Given the description of an element on the screen output the (x, y) to click on. 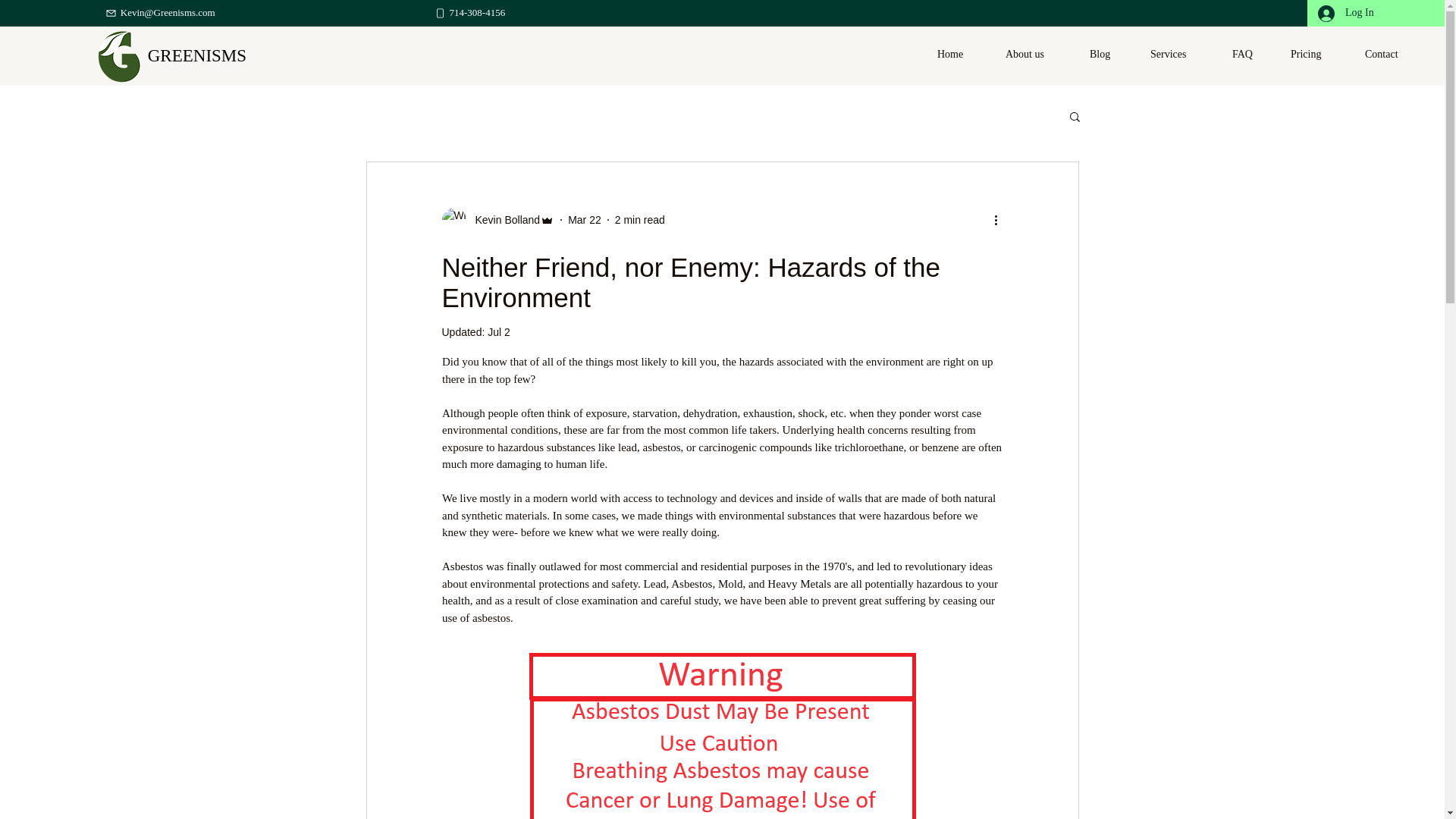
Pricing (1315, 53)
2 min read (639, 219)
Mar 22 (584, 219)
Contact (1391, 53)
Kevin Bolland (497, 219)
Log In (1345, 13)
Services (1179, 53)
Jul 2 (499, 331)
GREENISMS (197, 55)
Kevin Bolland (502, 220)
